Given the description of an element on the screen output the (x, y) to click on. 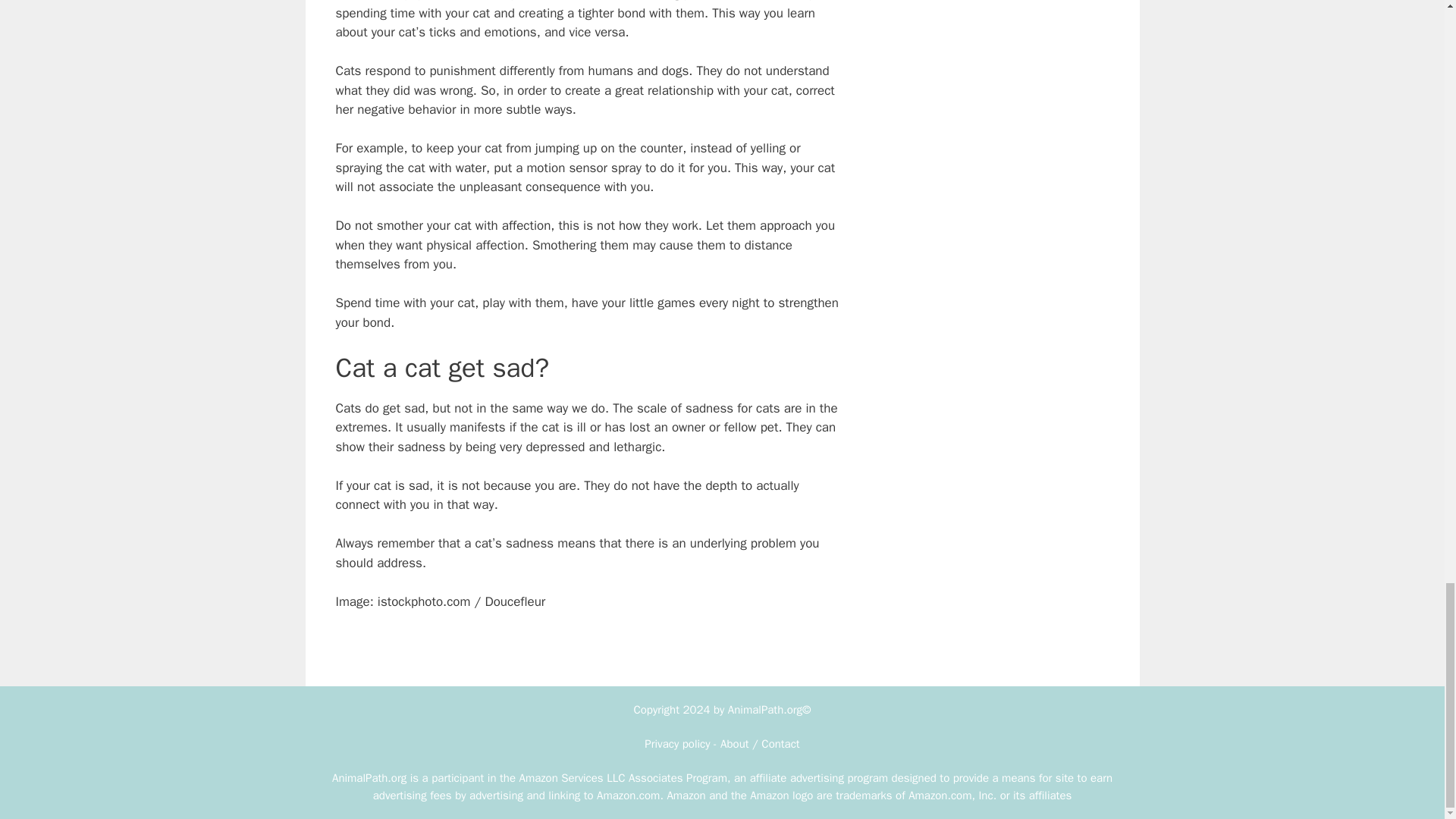
Privacy policy (677, 744)
